Given the description of an element on the screen output the (x, y) to click on. 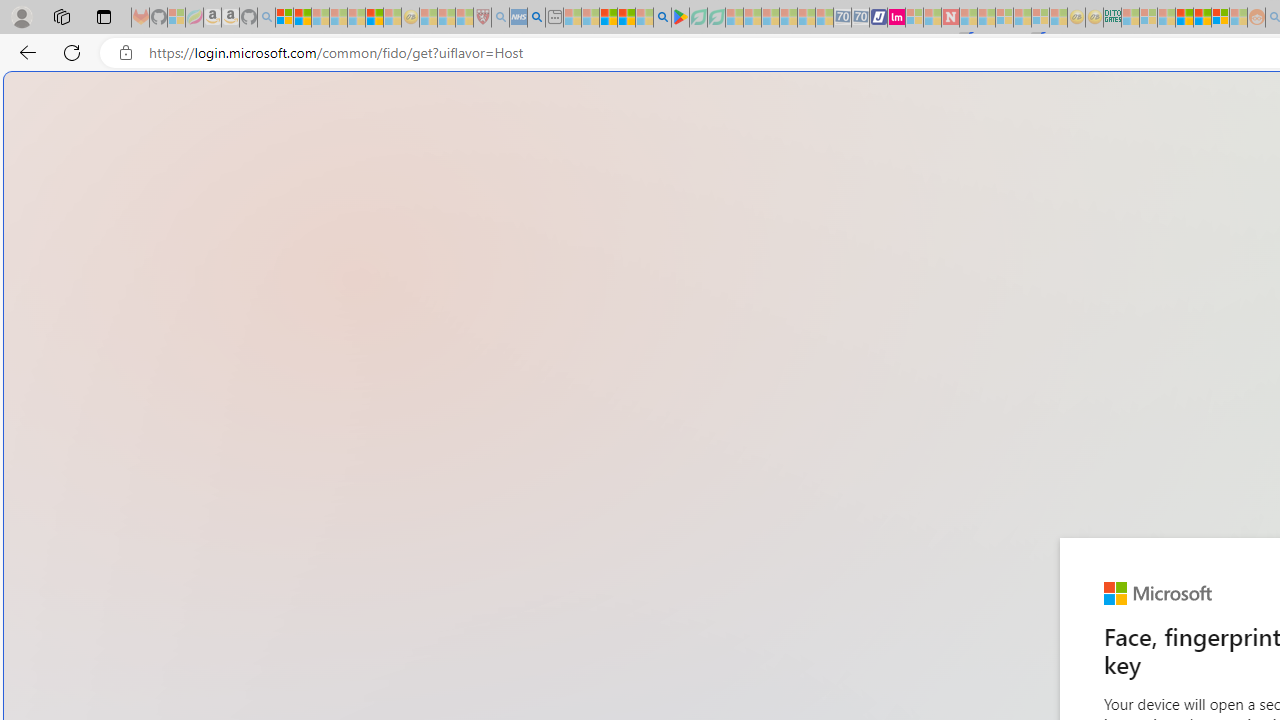
Pets - MSN (626, 17)
Jobs - lastminute.com Investor Portal (896, 17)
MSNBC - MSN - Sleeping (1130, 17)
Terms of Use Agreement - Sleeping (697, 17)
Kinda Frugal - MSN (1202, 17)
google - Search (662, 17)
The Weather Channel - MSN - Sleeping (320, 17)
